Given the description of an element on the screen output the (x, y) to click on. 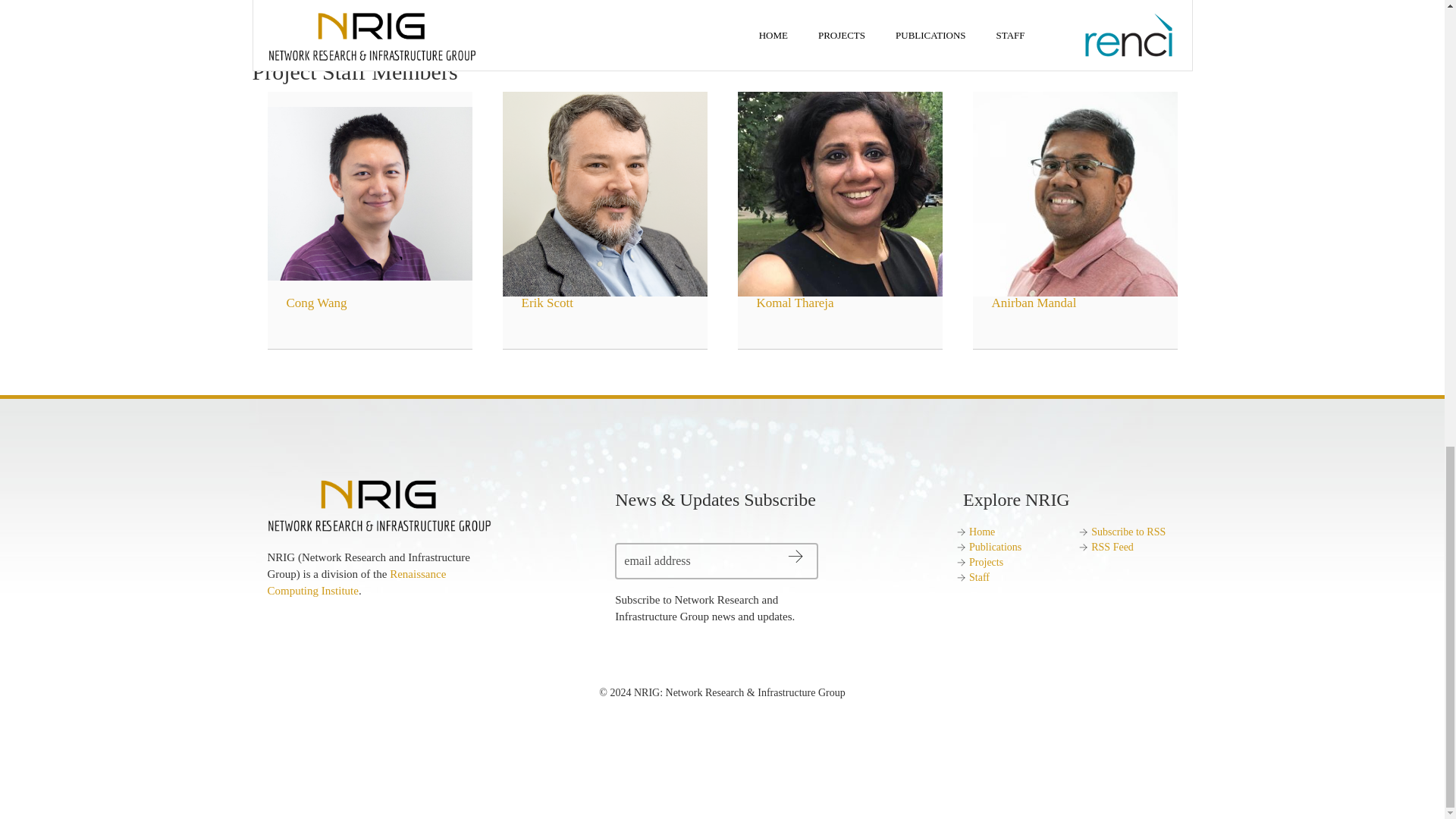
Komal Thareja (839, 204)
Home (981, 531)
Anirban Mandal (1074, 204)
Submit (822, 556)
Staff (979, 577)
Renaissance Computing Institute (355, 582)
RSS Feed (1112, 546)
email address (716, 560)
Cong Wang (368, 204)
Publications (995, 546)
Erik Scott (604, 204)
Submit (822, 556)
Projects (986, 562)
Subscribe to RSS (1128, 531)
